Given the description of an element on the screen output the (x, y) to click on. 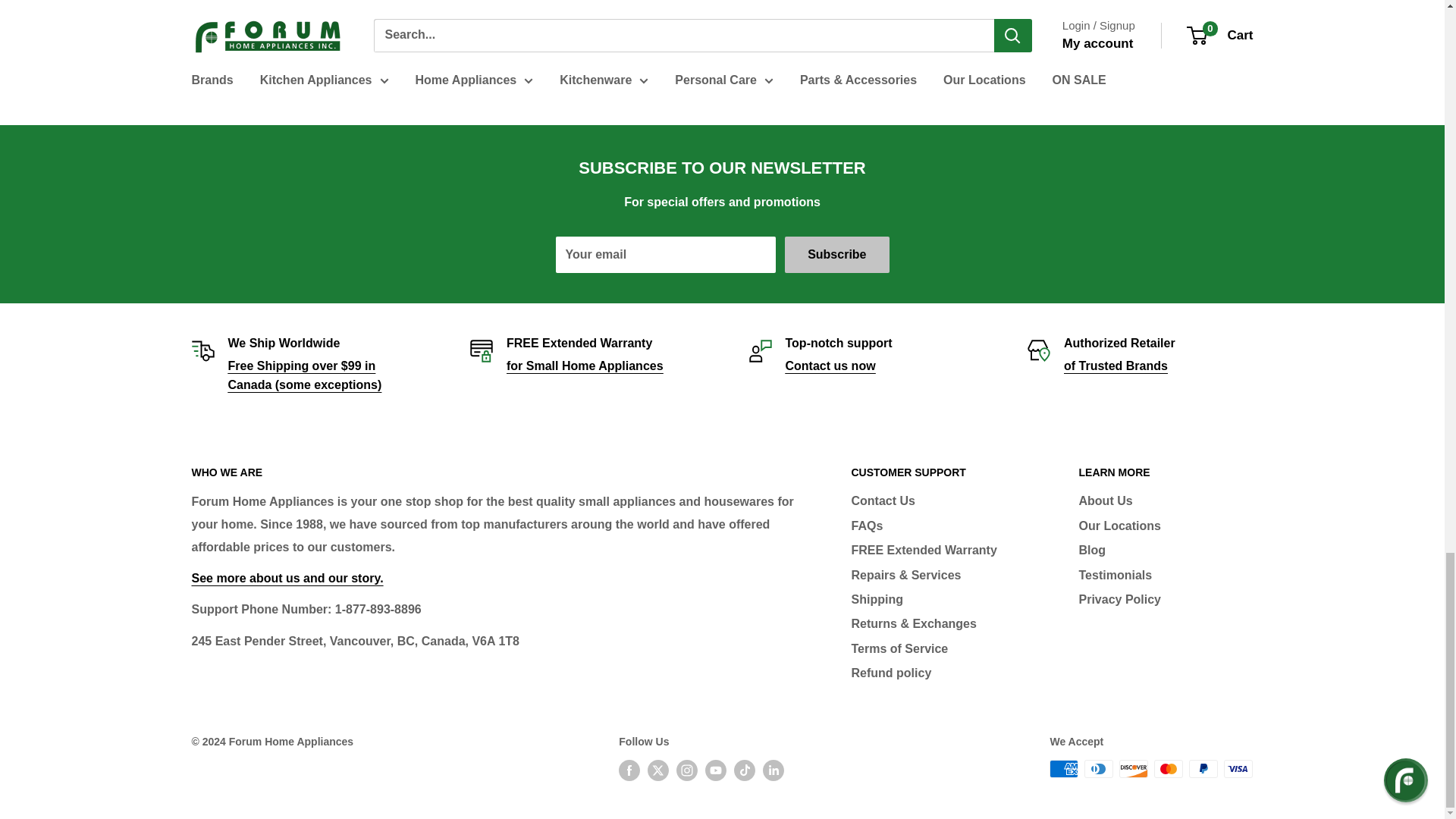
Contact Us (831, 365)
FREE Extended Warranty (584, 365)
About Us (286, 577)
Shipping Info (304, 375)
Top Brands (1115, 365)
